Given the description of an element on the screen output the (x, y) to click on. 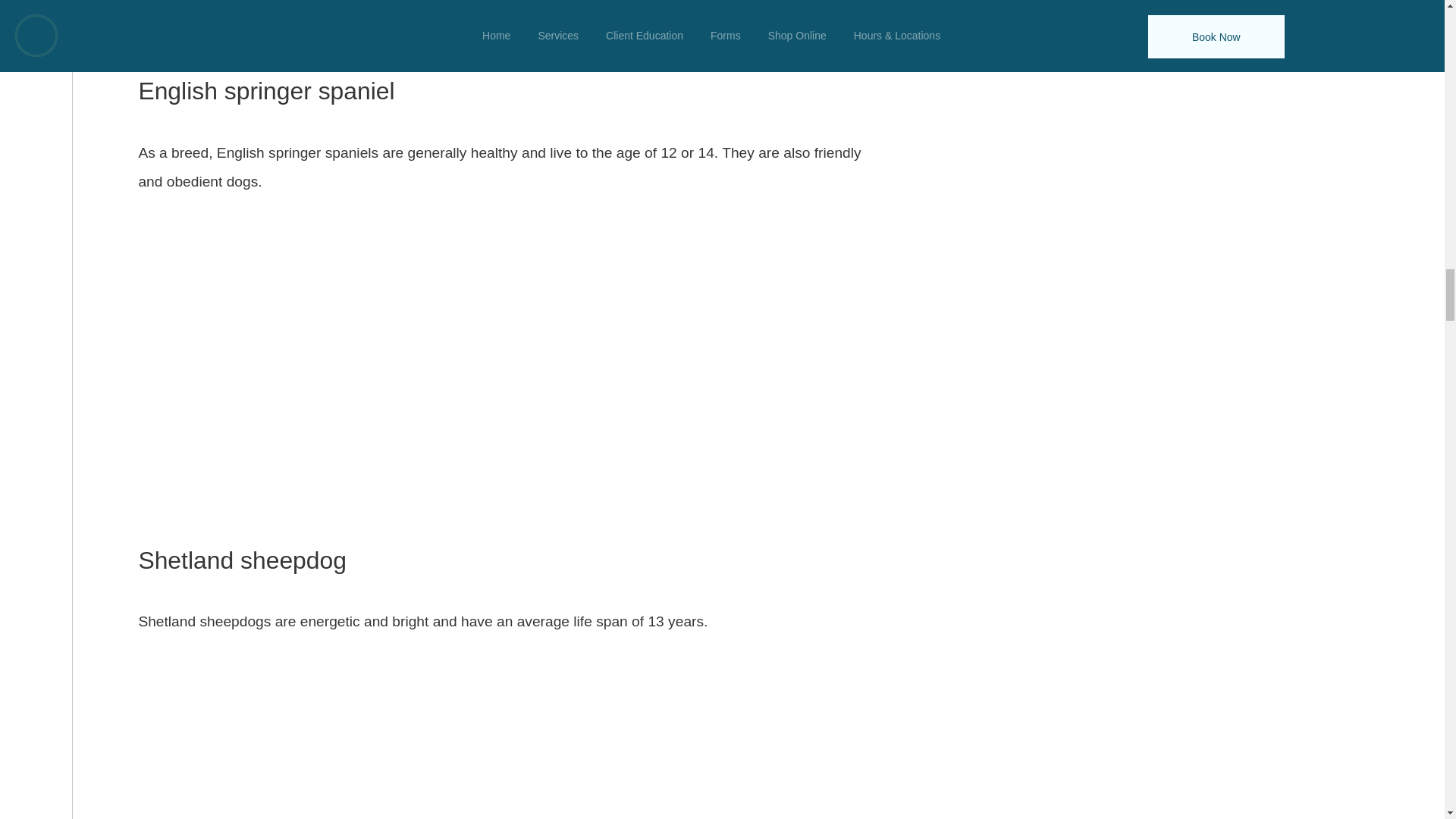
The 25 Dog Breeds With Longest Life Spans 8 (512, 25)
The 25 Dog Breeds With Longest Life Spans 10 (512, 730)
